Given the description of an element on the screen output the (x, y) to click on. 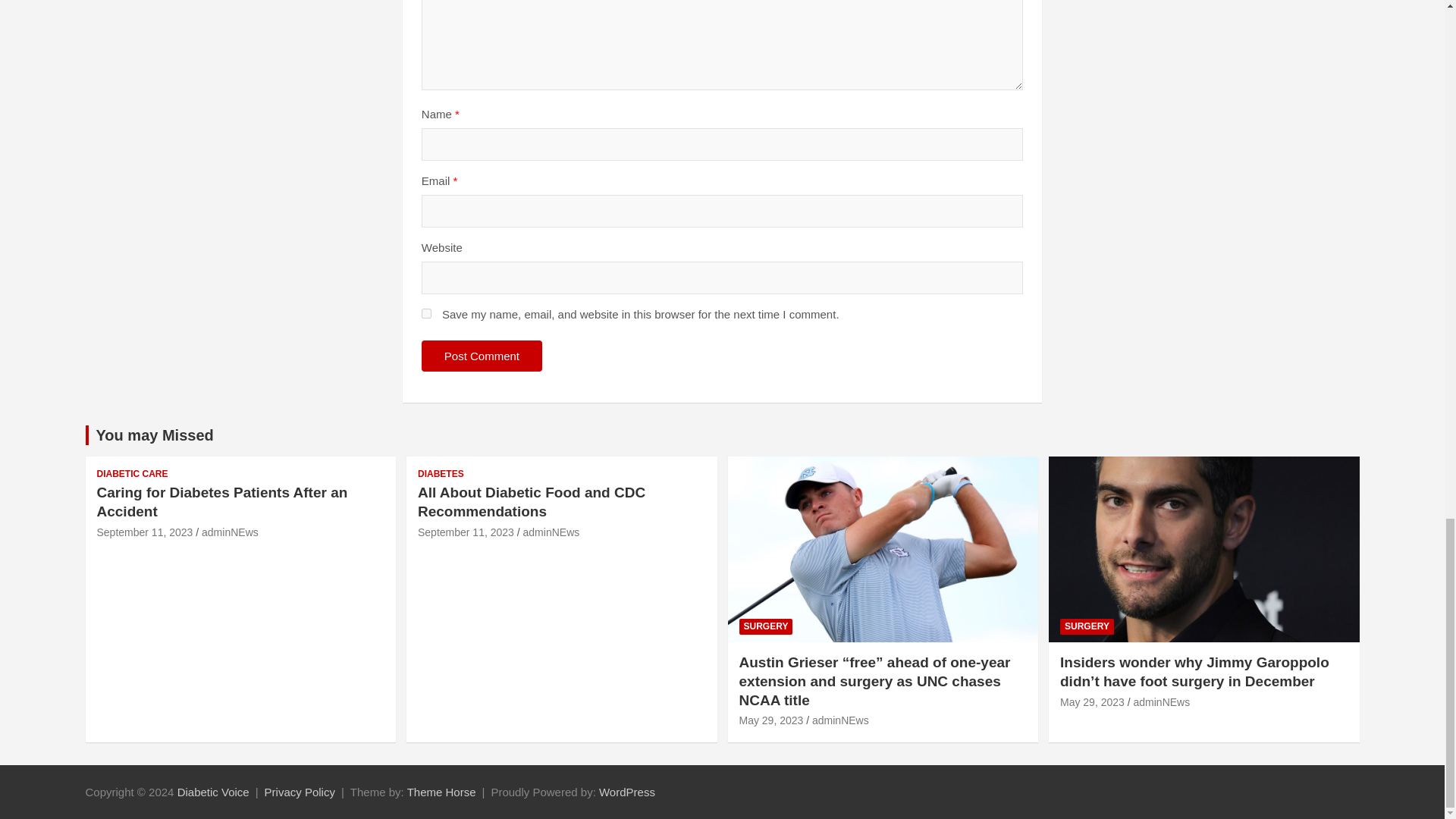
DIABETES (440, 473)
DIABETIC CARE (132, 473)
WordPress (626, 791)
Caring for Diabetes Patients After an Accident (145, 532)
You may Missed (154, 434)
adminNEws (230, 532)
Post Comment (481, 355)
Post Comment (481, 355)
Caring for Diabetes Patients After an Accident (222, 501)
yes (426, 313)
September 11, 2023 (465, 532)
September 11, 2023 (145, 532)
Diabetic Voice (212, 791)
Theme Horse (441, 791)
All About Diabetic Food and CDC Recommendations (531, 501)
